Given the description of an element on the screen output the (x, y) to click on. 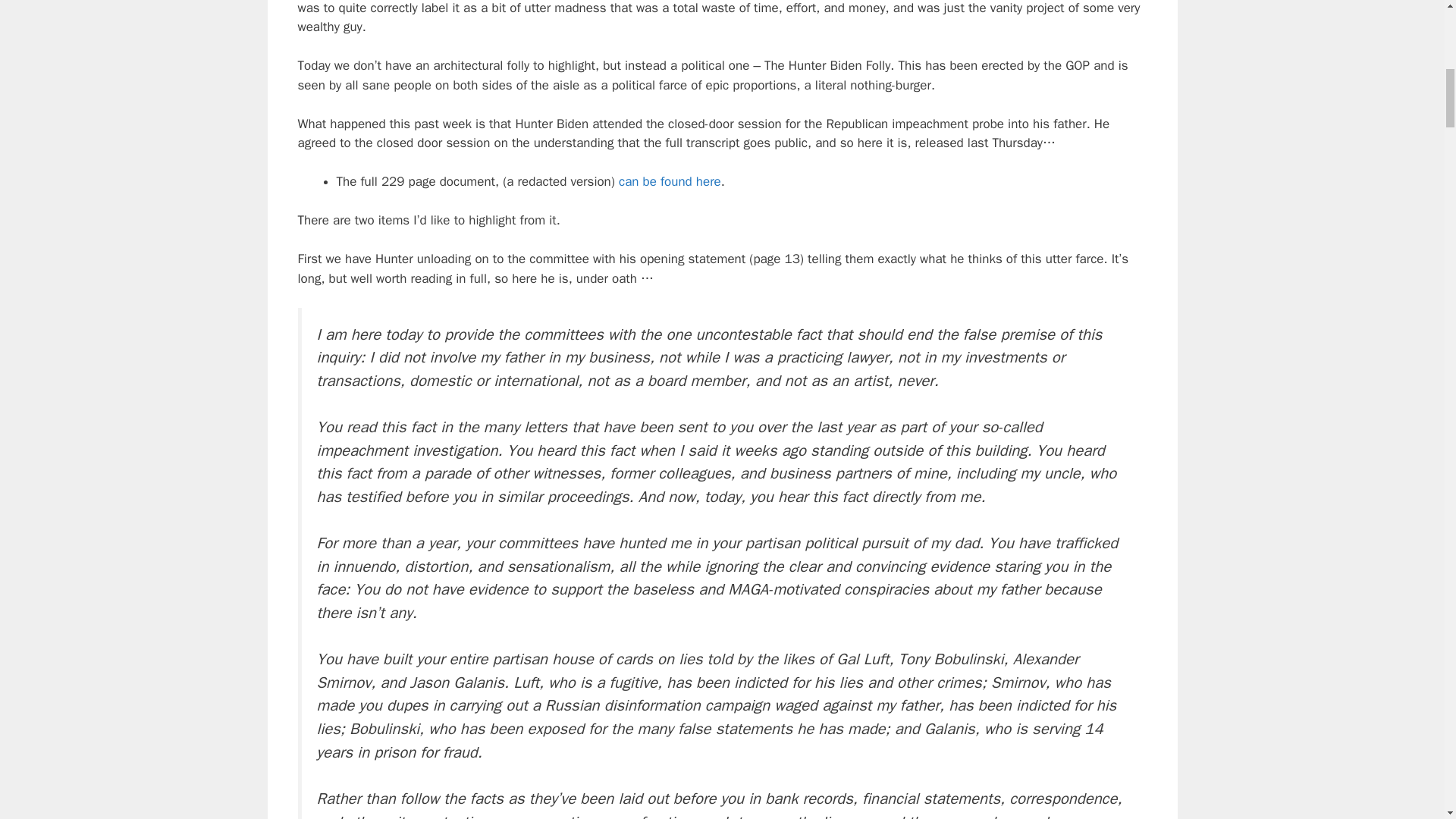
can be found here (669, 181)
